Given the description of an element on the screen output the (x, y) to click on. 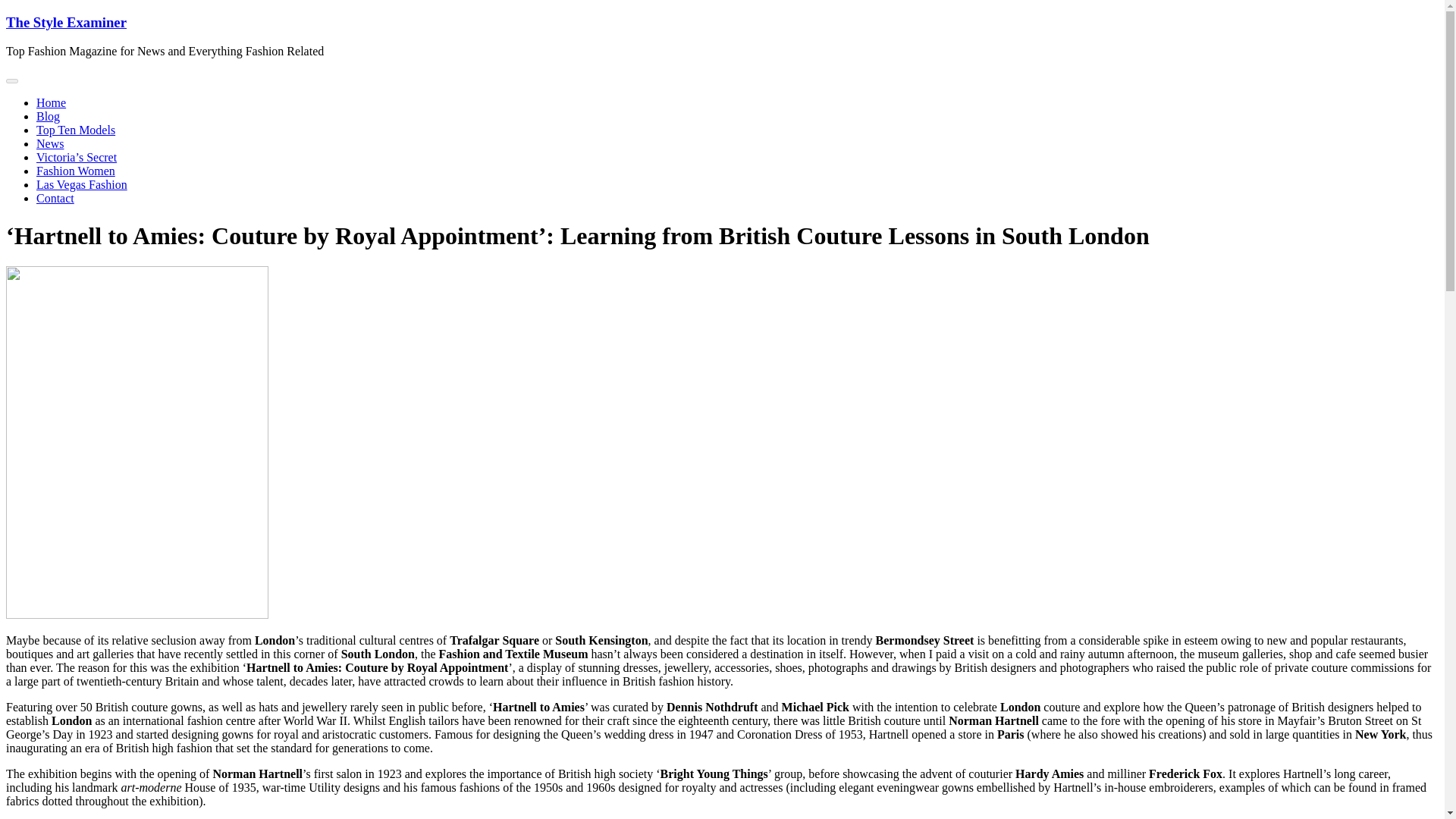
News (50, 143)
Contact (55, 197)
Top Ten Models (75, 129)
Las Vegas Fashion (82, 184)
Blog (47, 115)
The Style Examiner (65, 22)
Fashion Women (75, 170)
Home (50, 102)
